Given the description of an element on the screen output the (x, y) to click on. 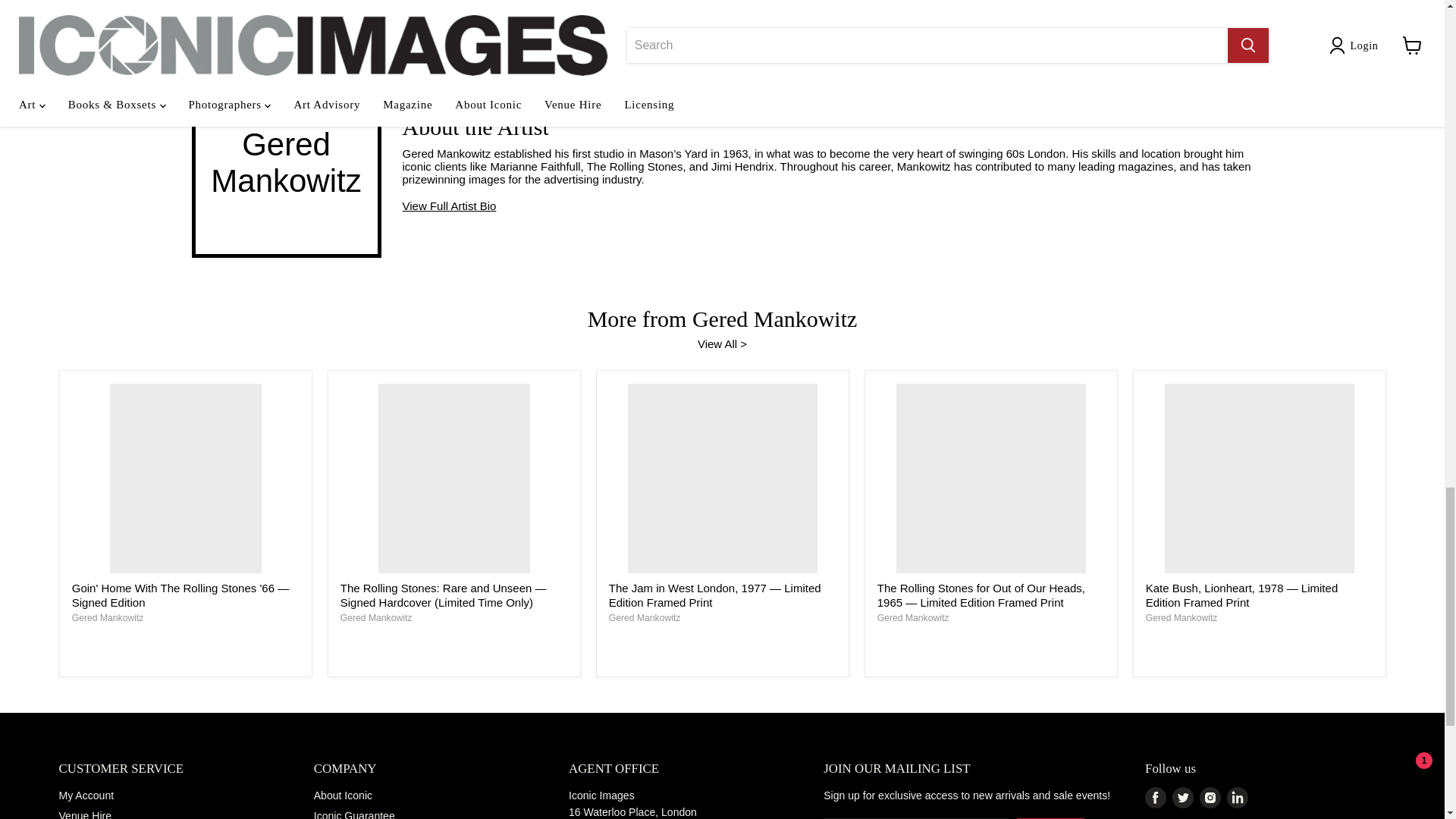
Gered Mankowitz (107, 617)
Facebook (1155, 797)
Twitter (1182, 797)
Gered Mankowitz (1181, 617)
Gered Mankowitz (644, 617)
Gered Mankowitz (913, 617)
Gered Mankowitz (376, 617)
